Given the description of an element on the screen output the (x, y) to click on. 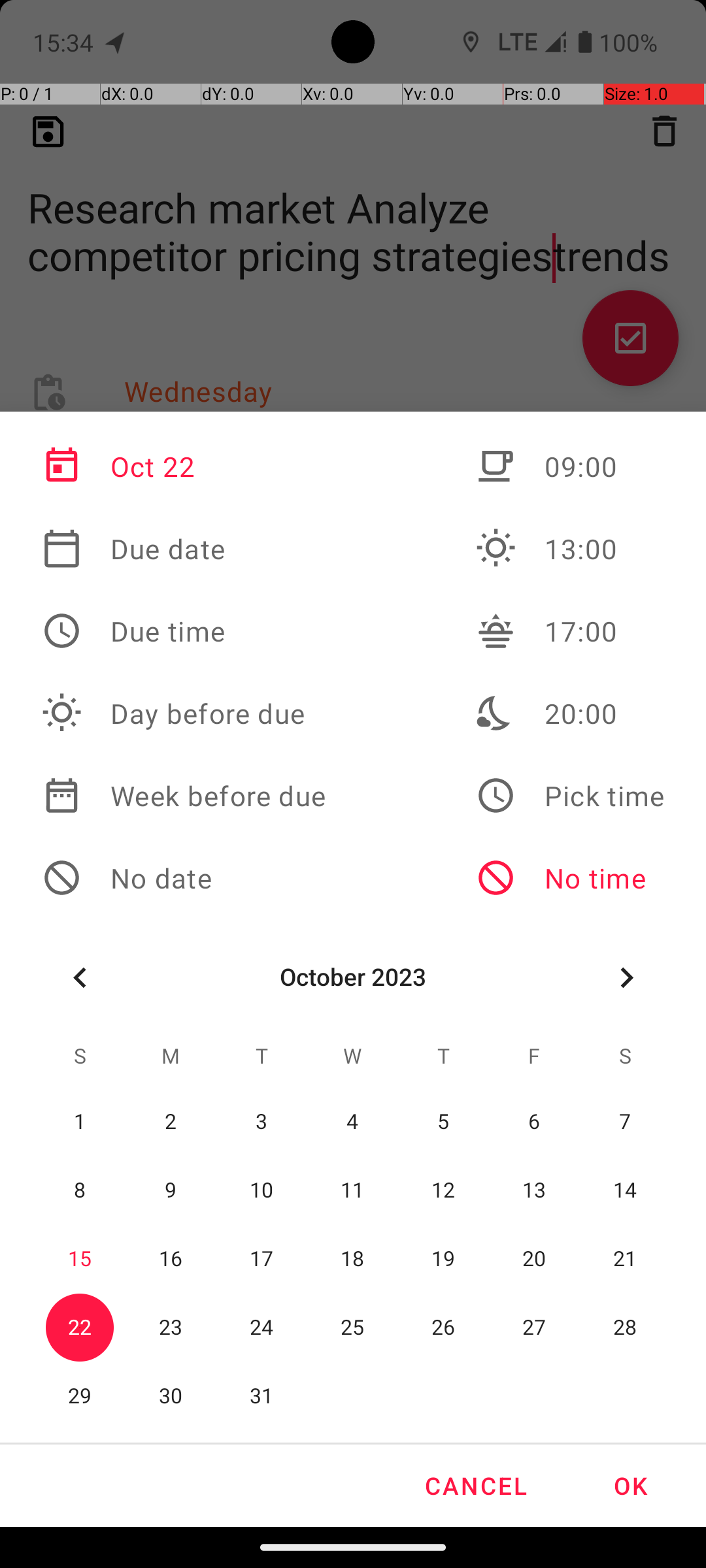
Due time Element type: android.widget.CompoundButton (183, 630)
Day before due Element type: android.widget.CompoundButton (183, 713)
